Given the description of an element on the screen output the (x, y) to click on. 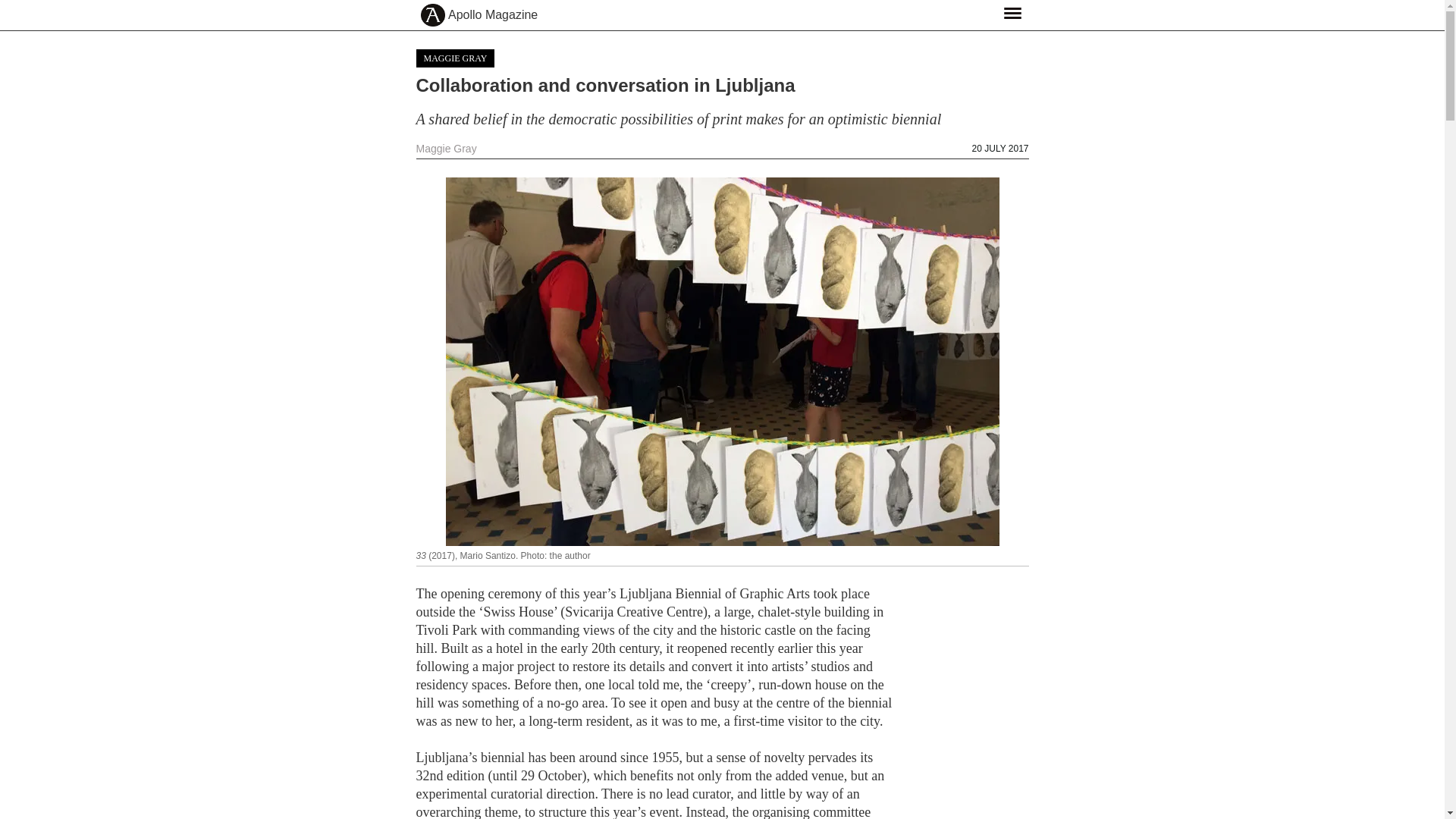
Nav toggle (1012, 12)
Nav toggle (1012, 12)
Apollo Magazine (492, 15)
